Given the description of an element on the screen output the (x, y) to click on. 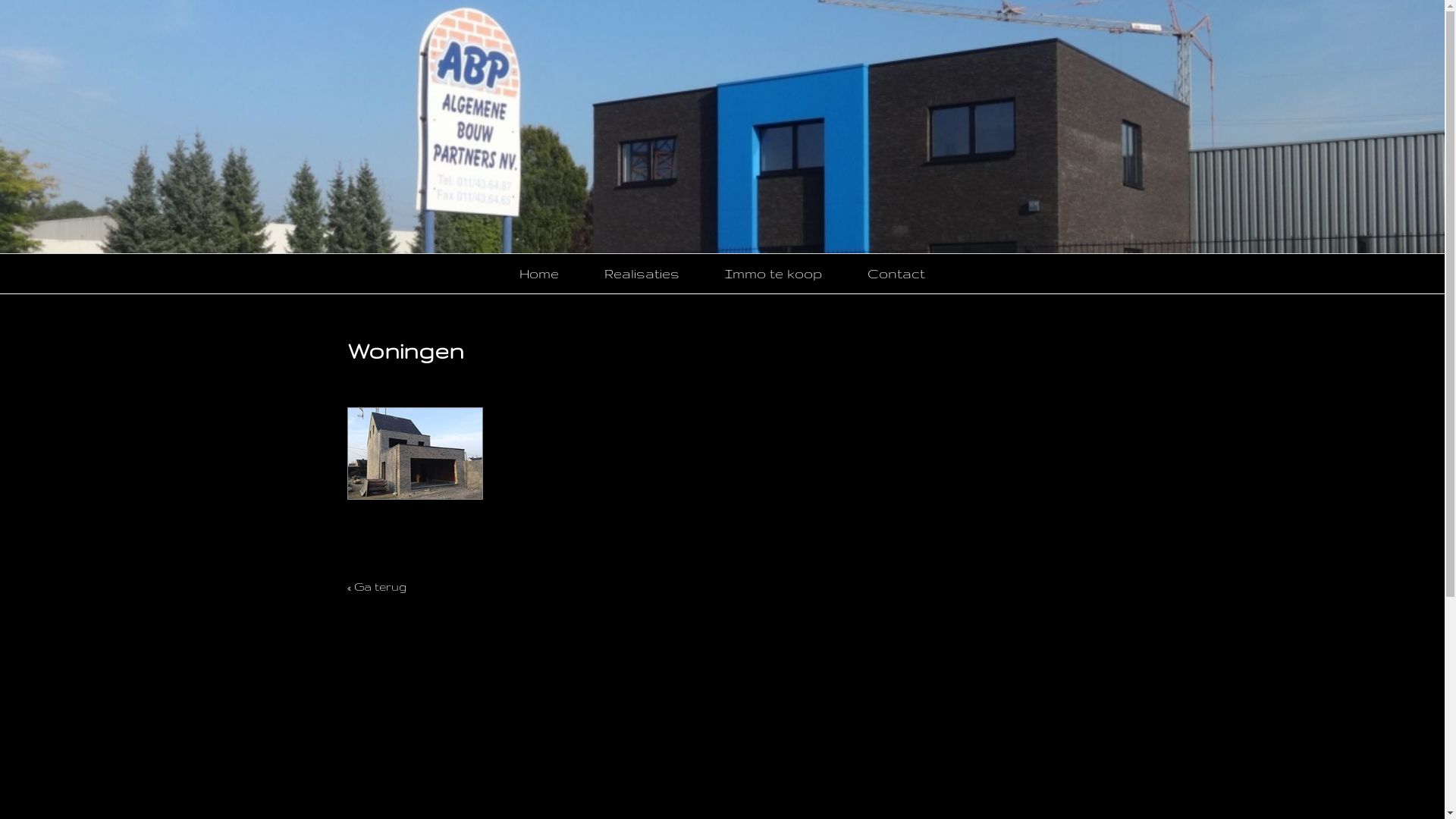
Woningen Element type: hover (415, 457)
Immo te koop Element type: text (773, 273)
Home Element type: text (538, 273)
Woningen Element type: hover (415, 455)
Contact Element type: text (896, 273)
Realisaties Element type: text (641, 273)
